Given the description of an element on the screen output the (x, y) to click on. 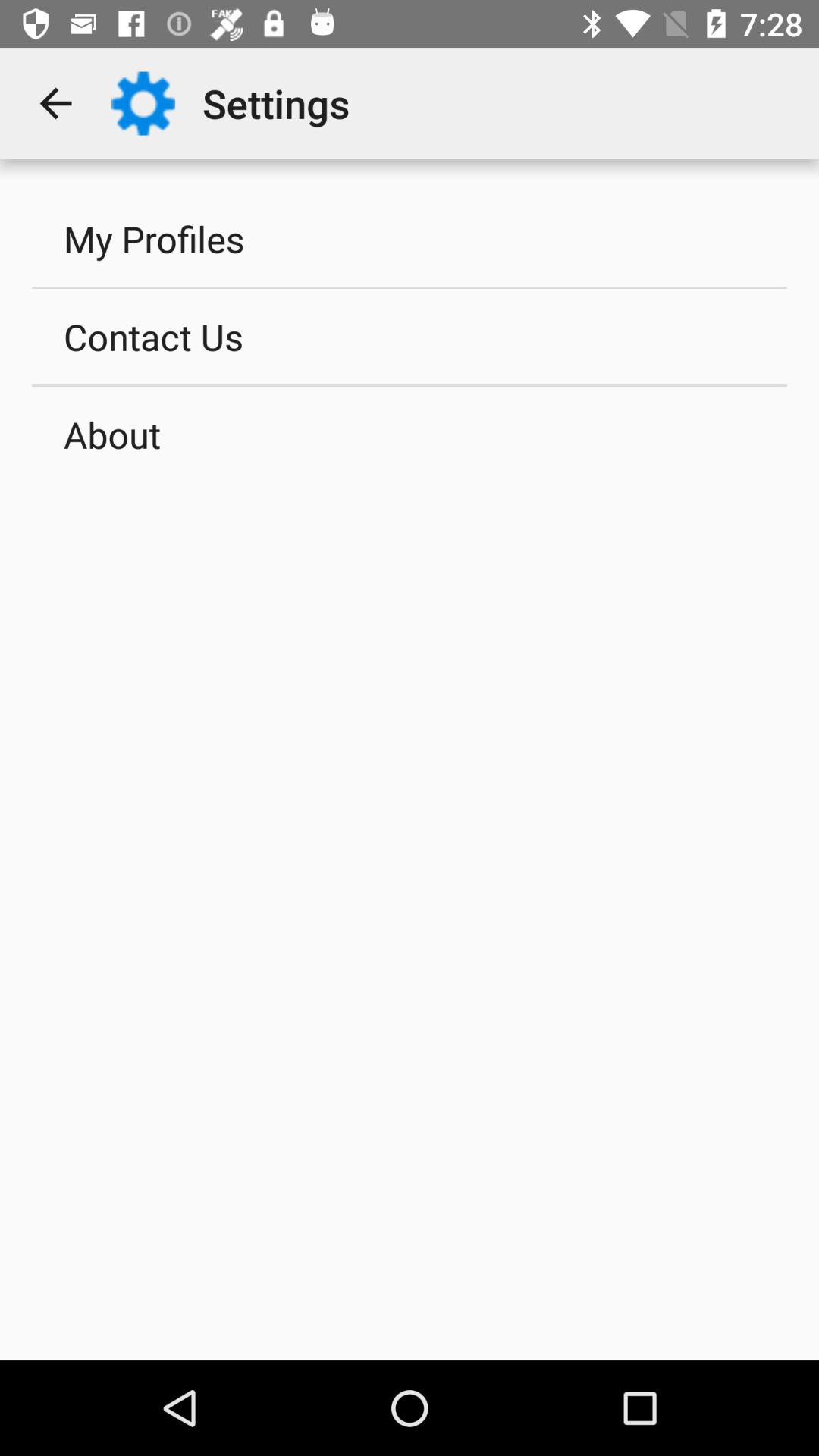
tap icon above the contact us item (409, 238)
